Given the description of an element on the screen output the (x, y) to click on. 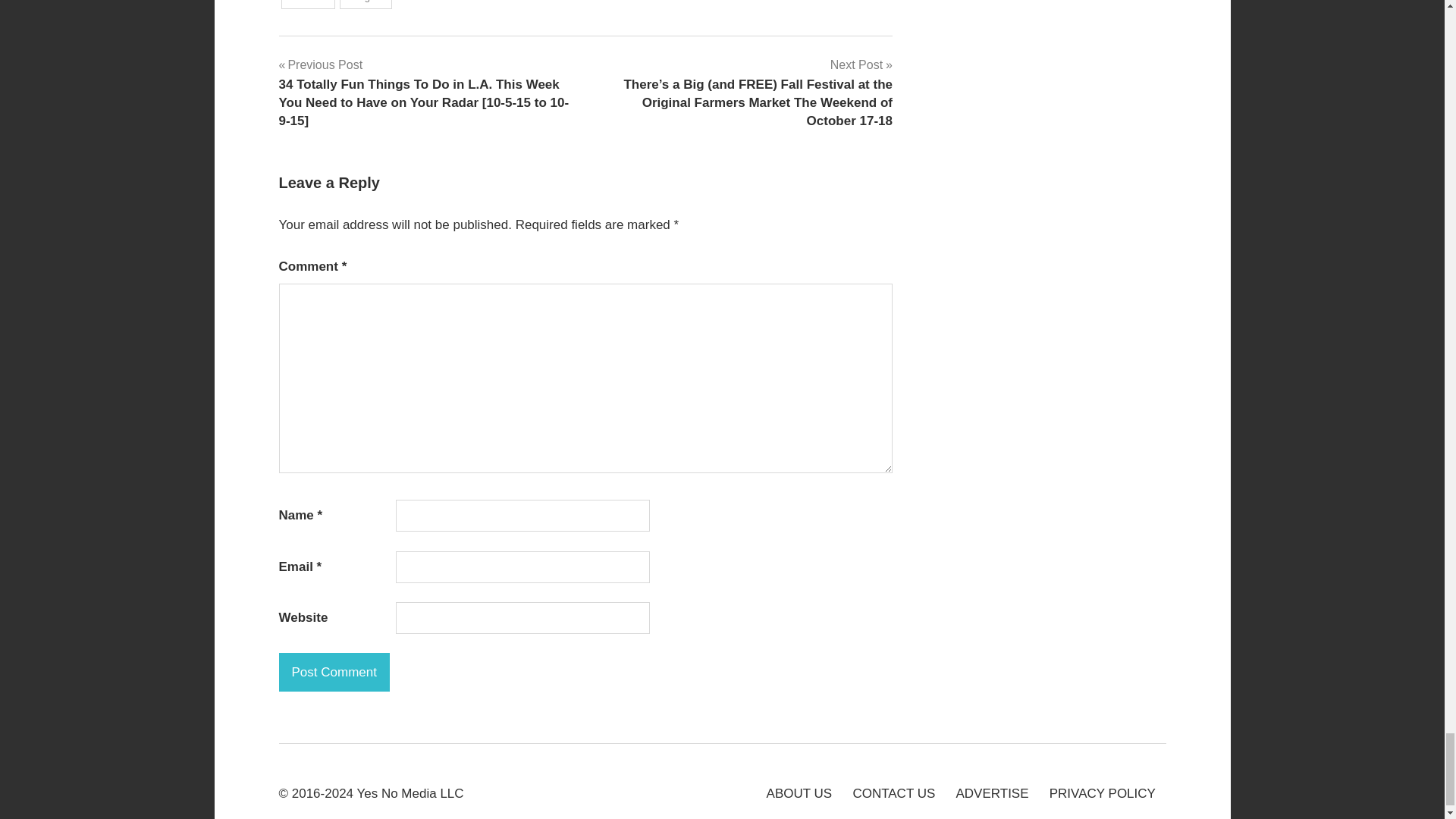
Post Comment (334, 671)
Post Comment (334, 671)
dodgers (366, 4)
baseball (307, 4)
